Given the description of an element on the screen output the (x, y) to click on. 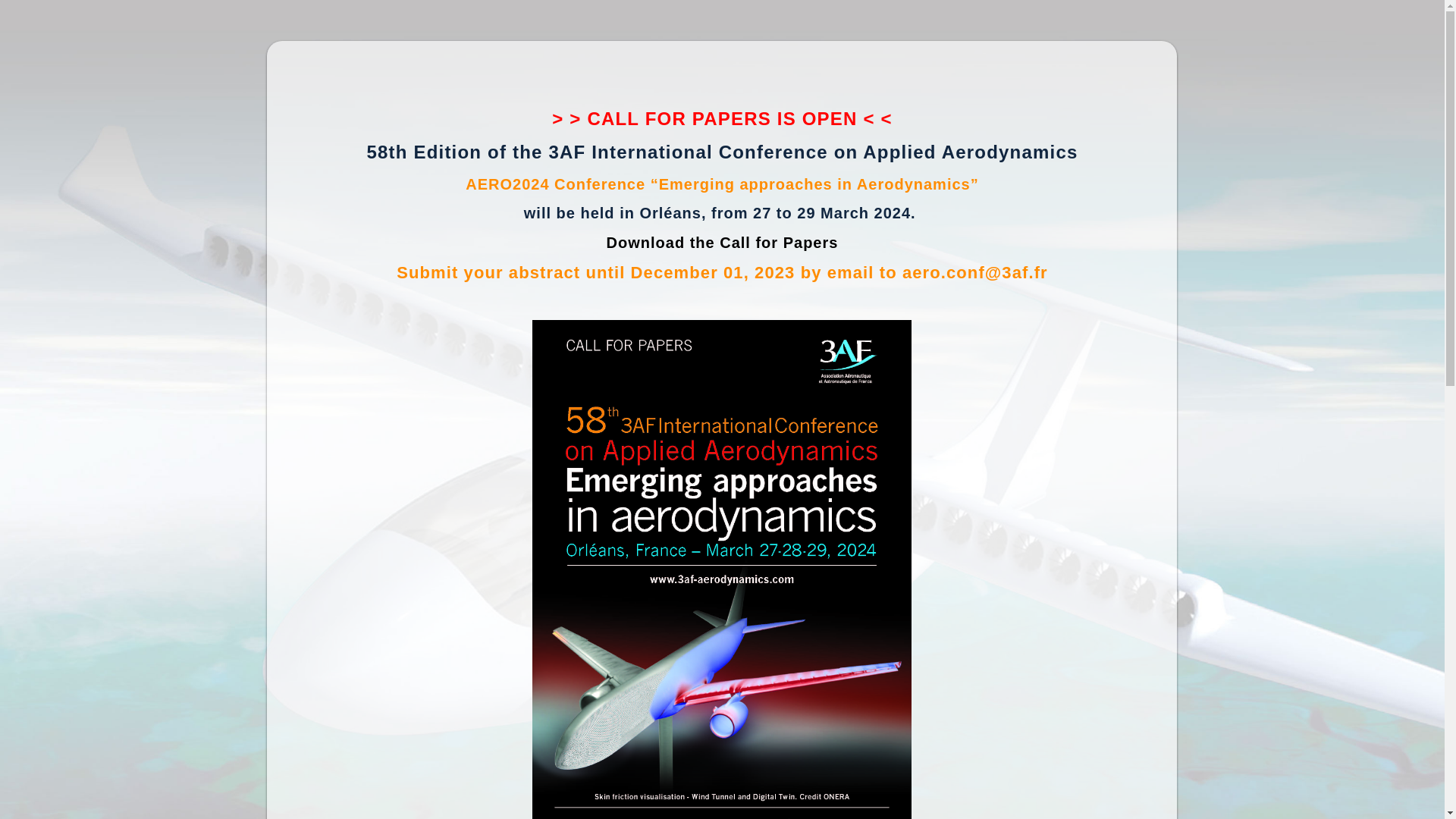
Download the Call for Papers Element type: text (722, 243)
